Given the description of an element on the screen output the (x, y) to click on. 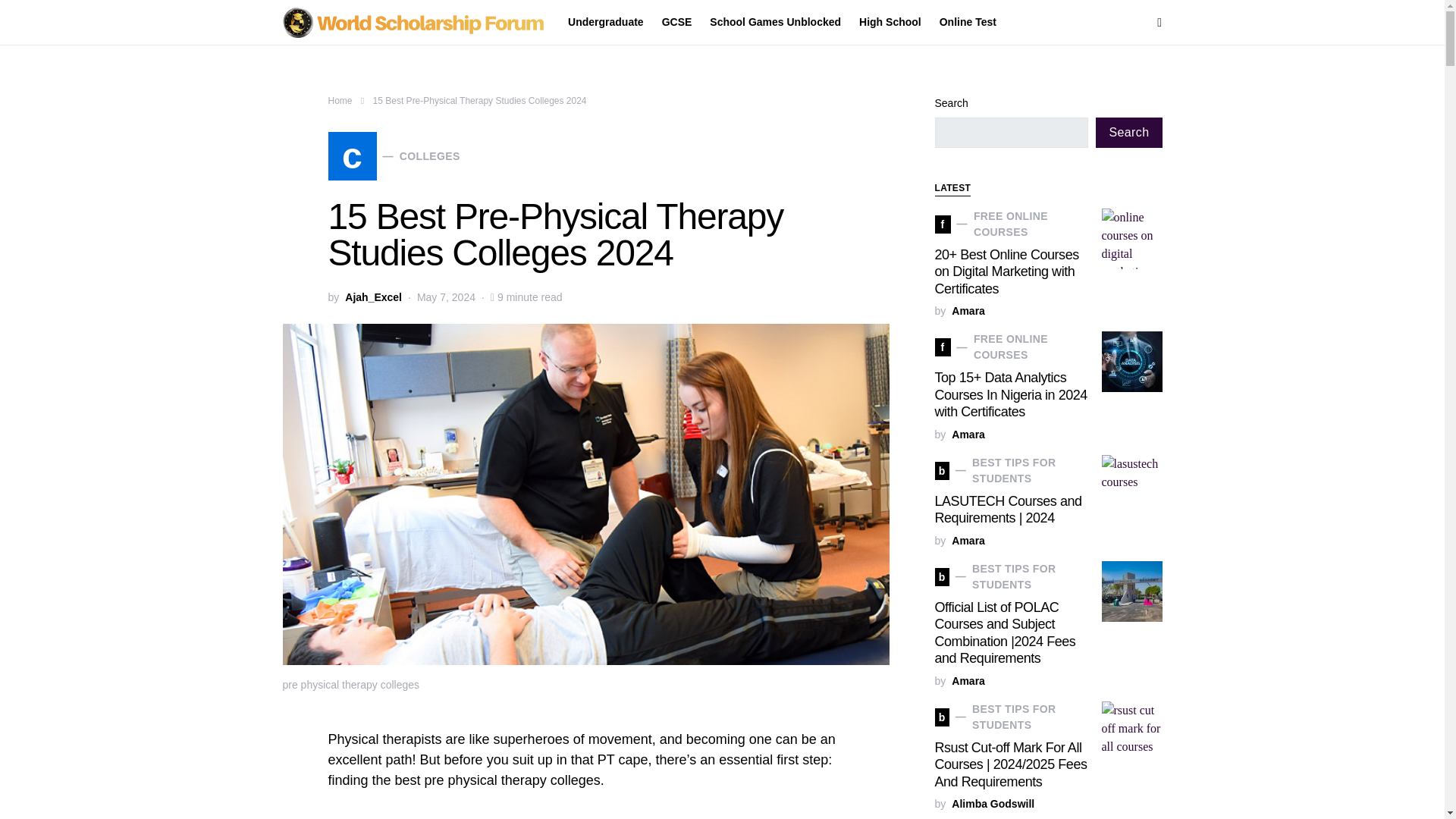
Home (339, 100)
View all posts by Amara (968, 681)
View all posts by Alimba Godswill (393, 155)
GCSE (992, 804)
Online Test (676, 22)
Undergraduate (962, 22)
School Games Unblocked (609, 22)
View all posts by Amara (775, 22)
View all posts by Amara (968, 434)
View all posts by Amara (968, 540)
High School (968, 311)
